Given the description of an element on the screen output the (x, y) to click on. 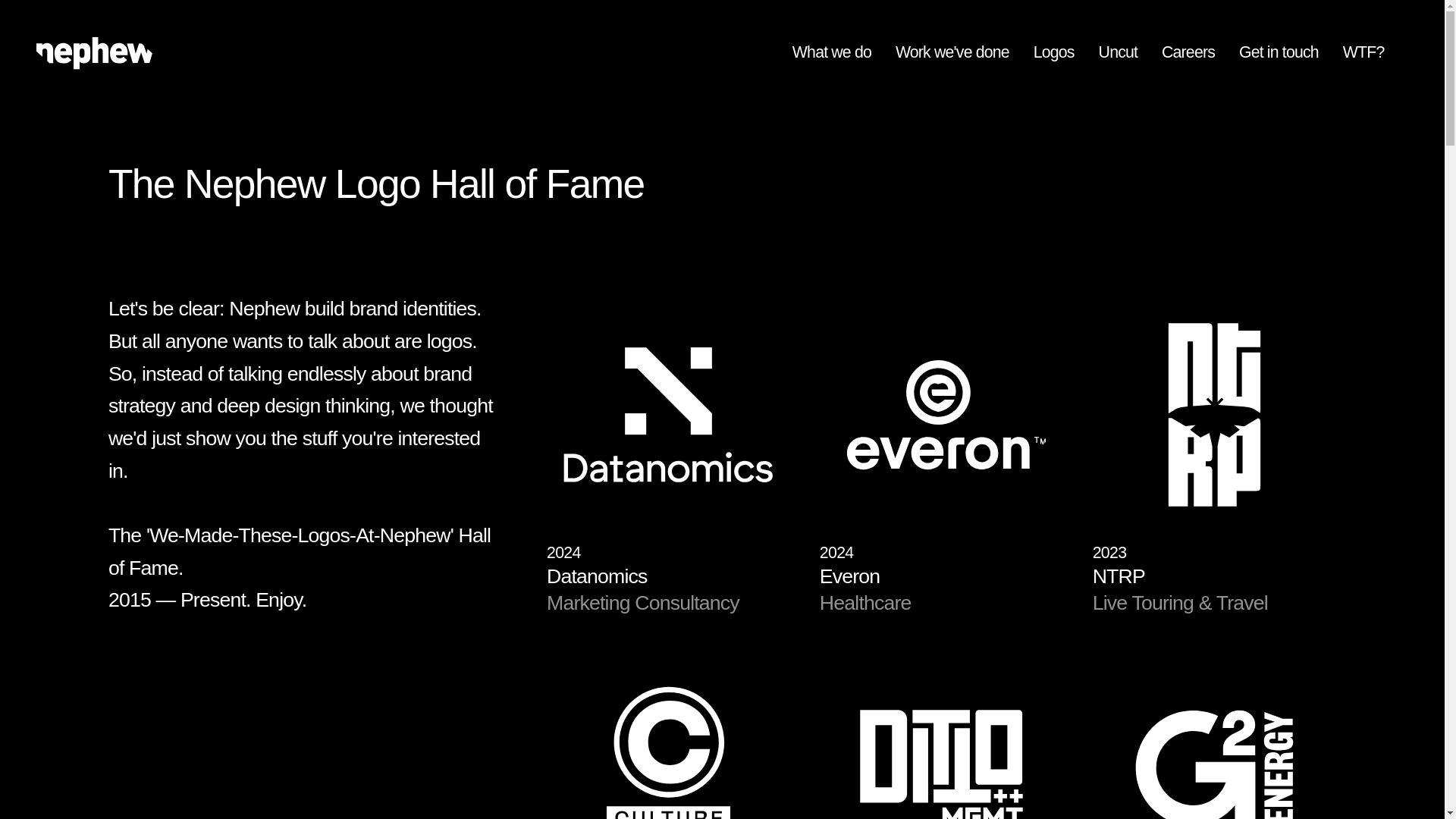
Work we've done (964, 53)
Uncut (1130, 53)
WTF? (1375, 53)
Careers (1200, 53)
Get in touch (1290, 53)
What we do (843, 53)
Logos (1066, 53)
